Given the description of an element on the screen output the (x, y) to click on. 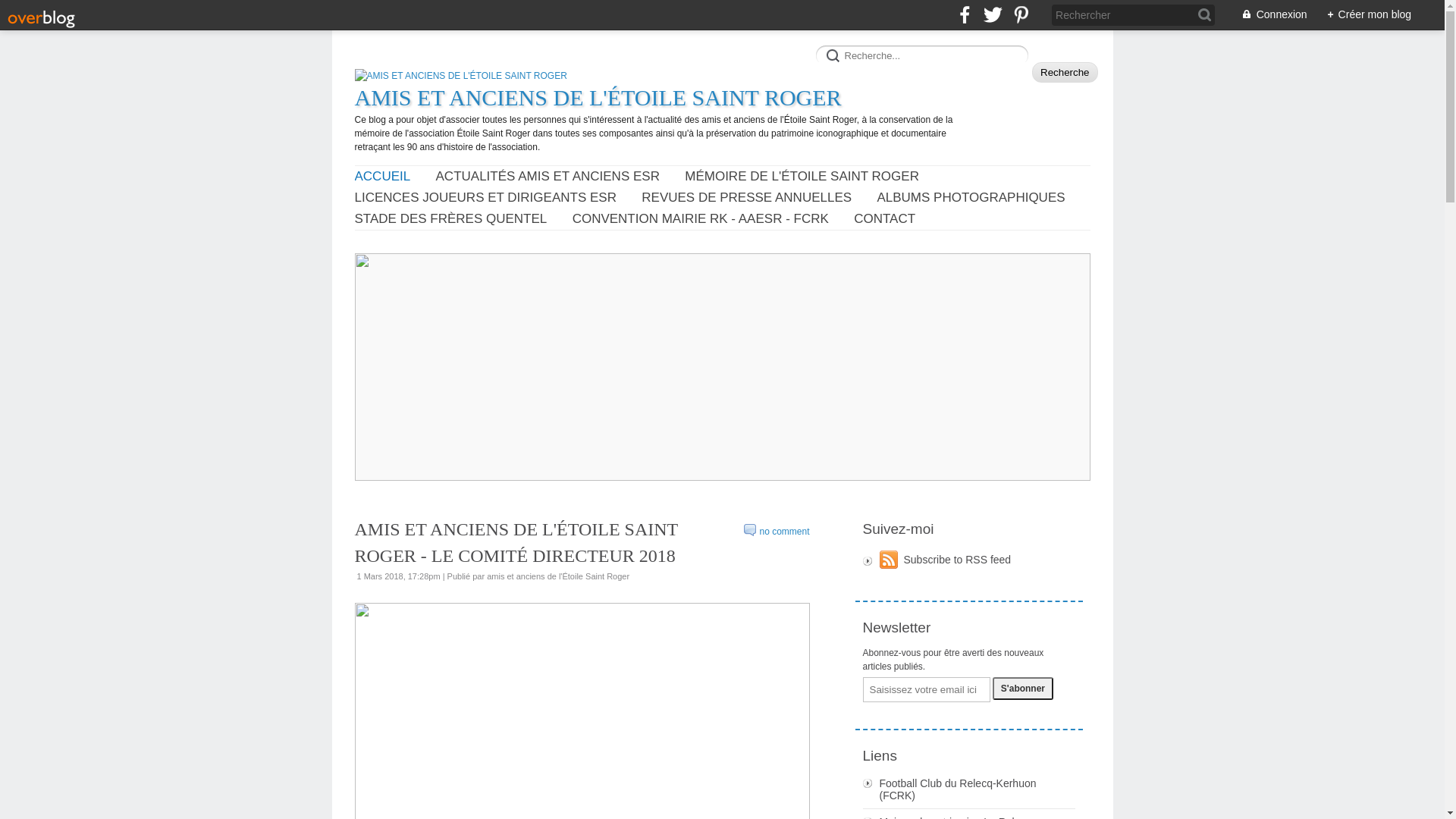
ACCUEIL Element type: text (382, 176)
search Element type: hover (924, 53)
 facebook Element type: hover (964, 14)
 pinterest Element type: hover (1020, 14)
Football Club du Relecq-Kerhuon (FCRK) Element type: text (968, 789)
Subscribe to RSS feed Element type: text (968, 560)
LICENCES JOUEURS ET DIRIGEANTS ESR Element type: text (485, 197)
S'abonner Element type: text (1022, 688)
CONTACT Element type: text (884, 218)
no comment Element type: text (776, 531)
REVUES DE PRESSE ANNUELLES Element type: text (746, 197)
Connexion Element type: text (1266, 14)
 twitter Element type: hover (992, 14)
CONVENTION MAIRIE RK - AAESR - FCRK Element type: text (700, 218)
Recherche Element type: text (1064, 72)
ALBUMS PHOTOGRAPHIQUES Element type: text (970, 197)
